Given the description of an element on the screen output the (x, y) to click on. 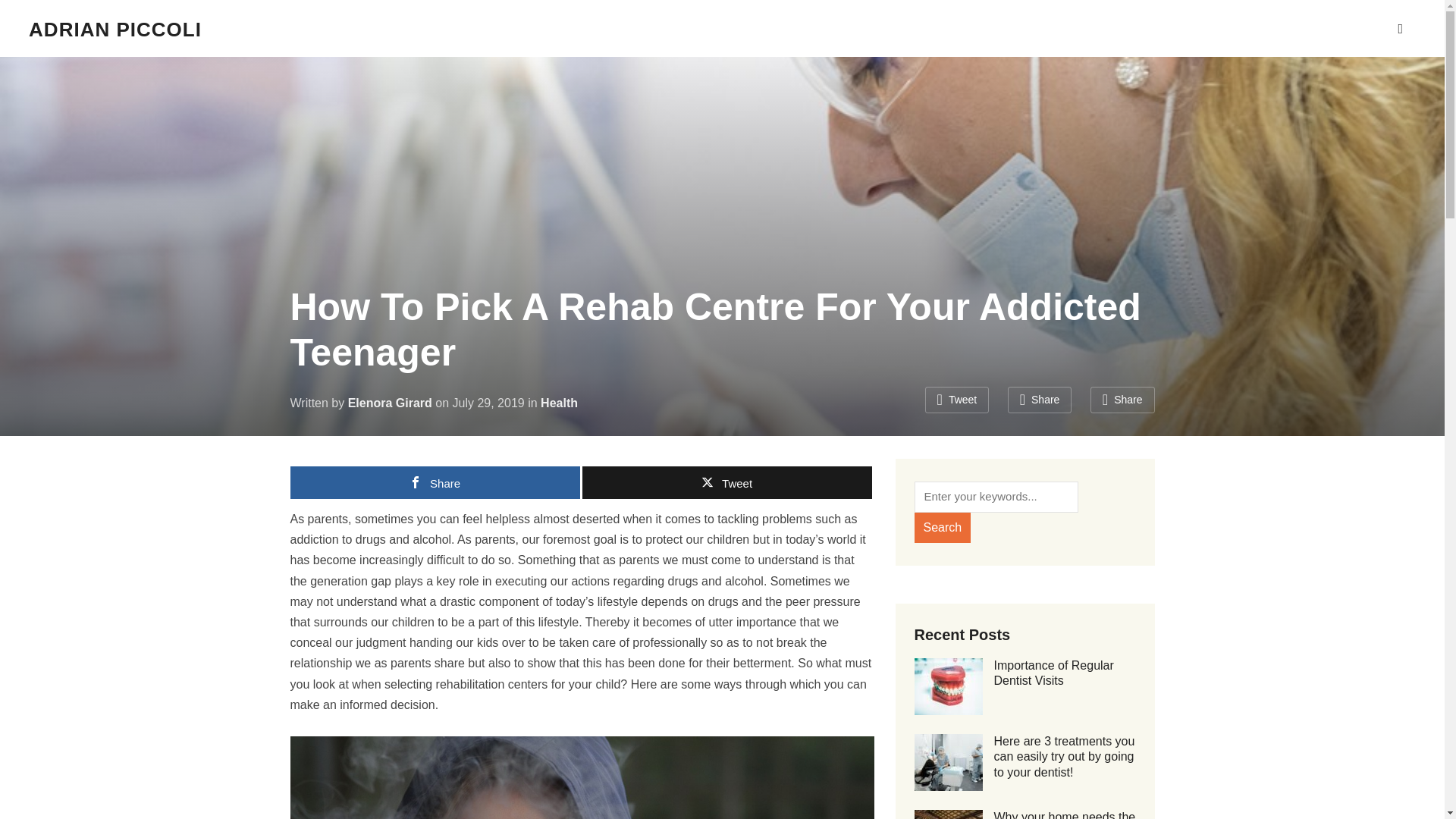
Tweet (727, 482)
Elenora Girard (389, 402)
Share (1122, 399)
Search (942, 527)
Share (1039, 399)
Share (434, 482)
ADRIAN PICCOLI (115, 29)
Posts by Elenora Girard (389, 402)
Search (942, 527)
Search (1400, 28)
Importance of Regular Dentist Visits (1052, 672)
Share this on Facebook (1039, 399)
One for One (115, 29)
Health (559, 402)
